Given the description of an element on the screen output the (x, y) to click on. 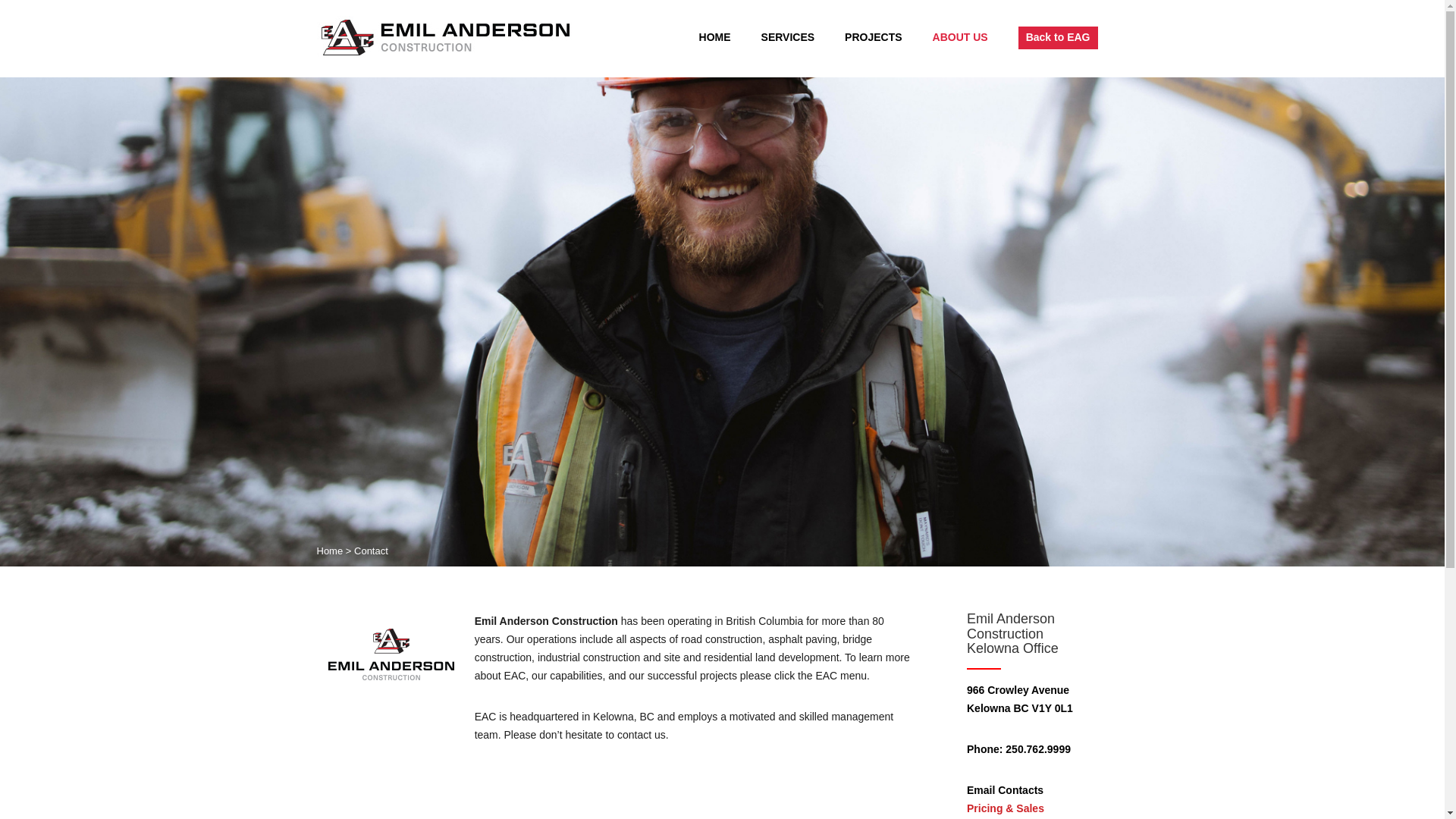
PROJECTS (872, 37)
ABOUT US (960, 37)
Back to EAG (1057, 37)
HOME (714, 37)
Home (330, 550)
SERVICES (788, 37)
